Given the description of an element on the screen output the (x, y) to click on. 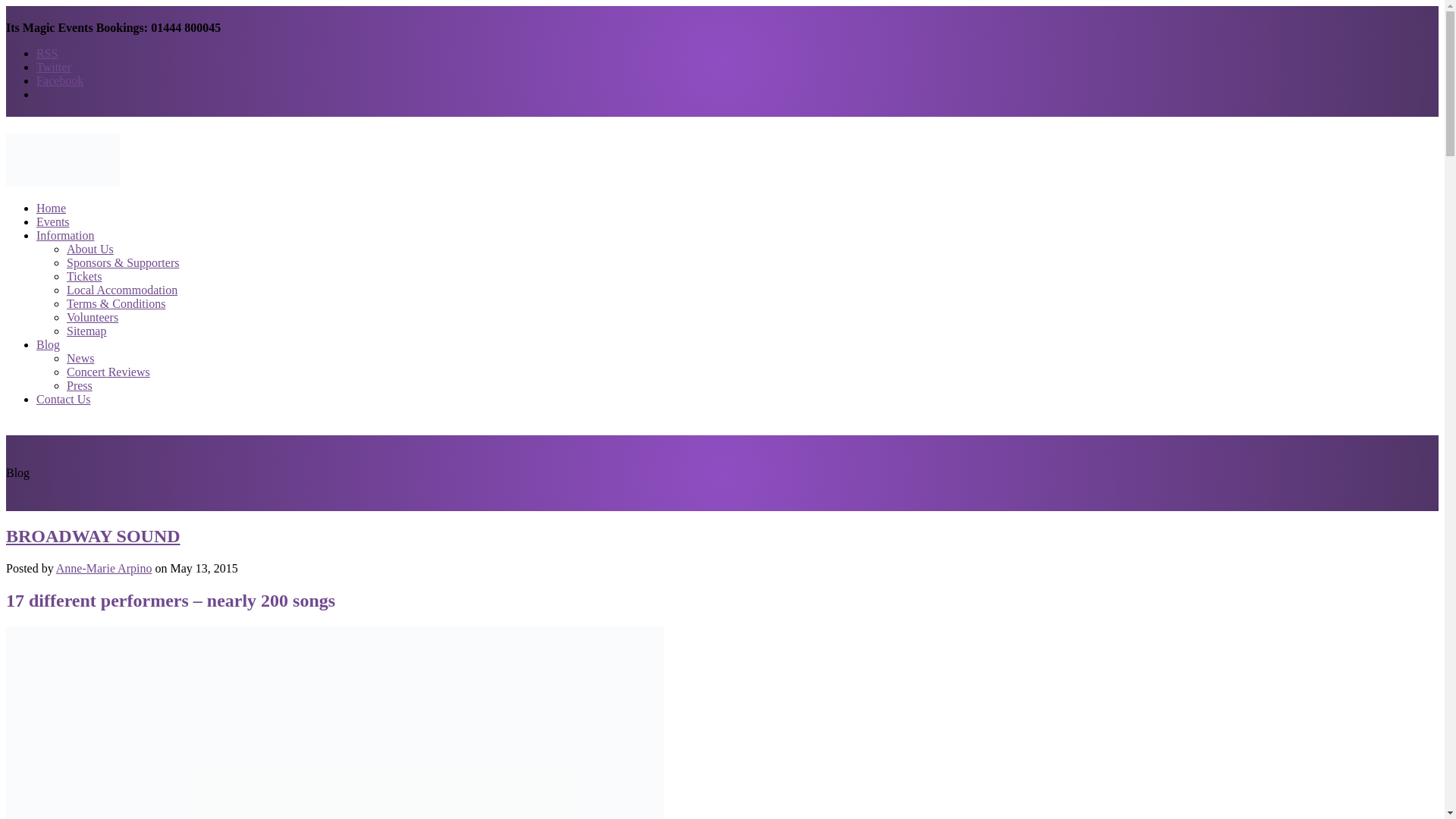
Contact Us (63, 399)
Blog (47, 344)
Twitter (53, 66)
Facebook (59, 80)
Posts by Anne-Marie Arpino (104, 567)
News (80, 358)
Concert Reviews (107, 371)
Sitemap (86, 330)
Press (79, 385)
Local Accommodation (121, 289)
Home (50, 207)
Events (52, 221)
Anne-Marie Arpino (104, 567)
Volunteers (91, 317)
BROADWAY SOUND (92, 536)
